Given the description of an element on the screen output the (x, y) to click on. 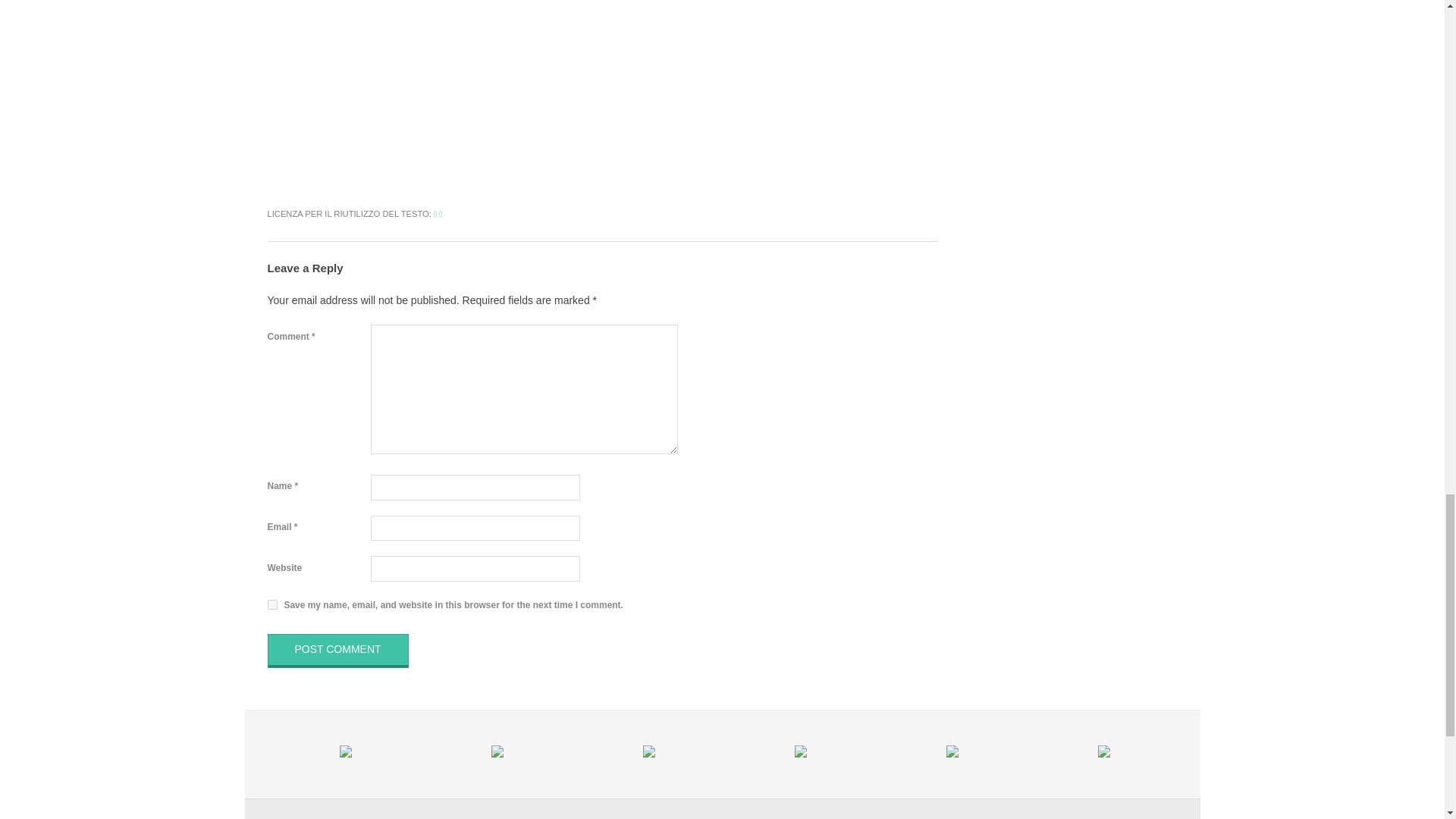
Post Comment (336, 651)
Post Comment (336, 651)
yes (271, 604)
